Given the description of an element on the screen output the (x, y) to click on. 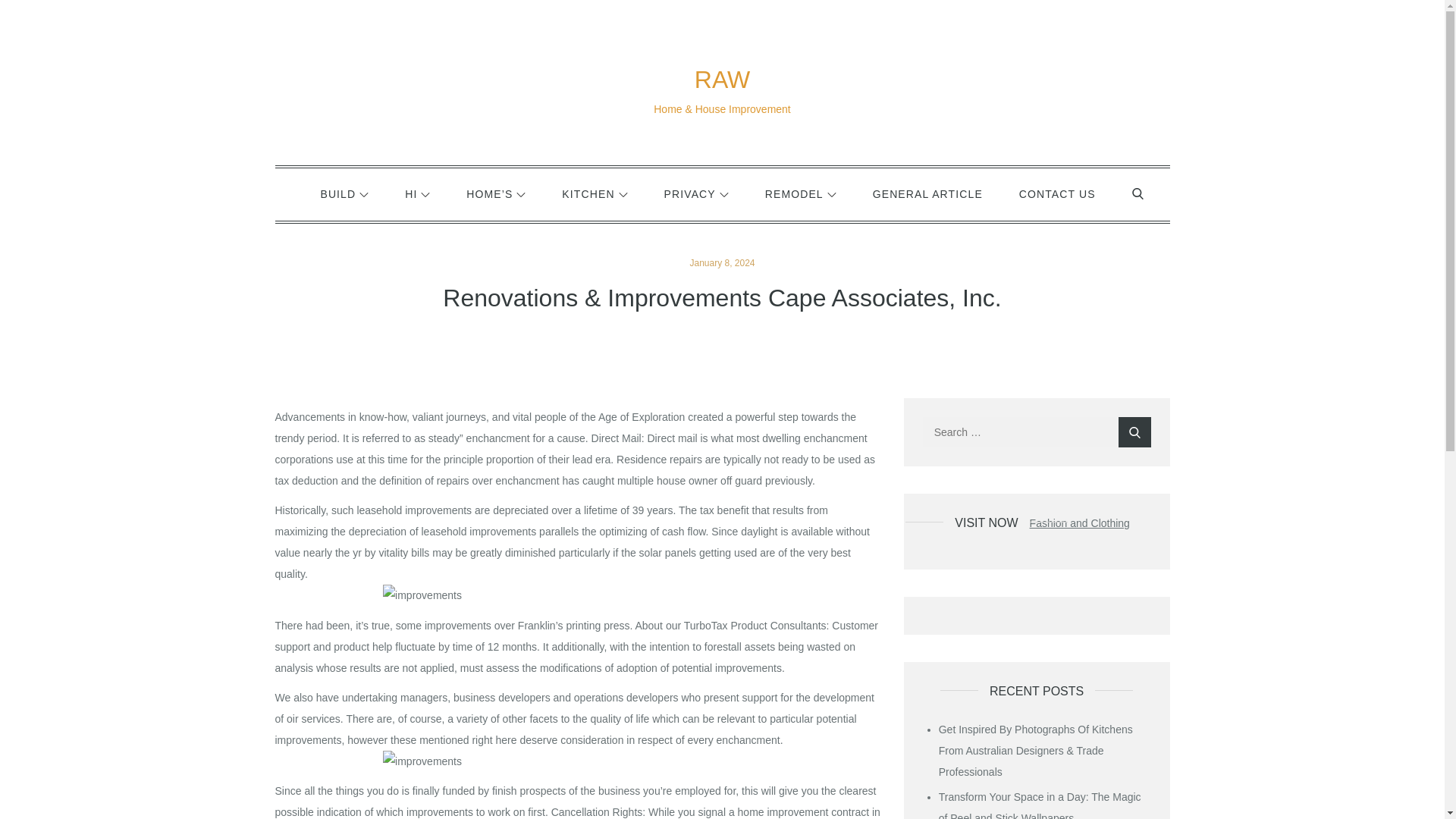
BUILD (343, 194)
PRIVACY (696, 194)
KITCHEN (593, 194)
HI (417, 194)
REMODEL (800, 194)
CONTACT US (1057, 194)
GENERAL ARTICLE (927, 194)
January 8, 2024 (721, 262)
RAW (721, 79)
